Given the description of an element on the screen output the (x, y) to click on. 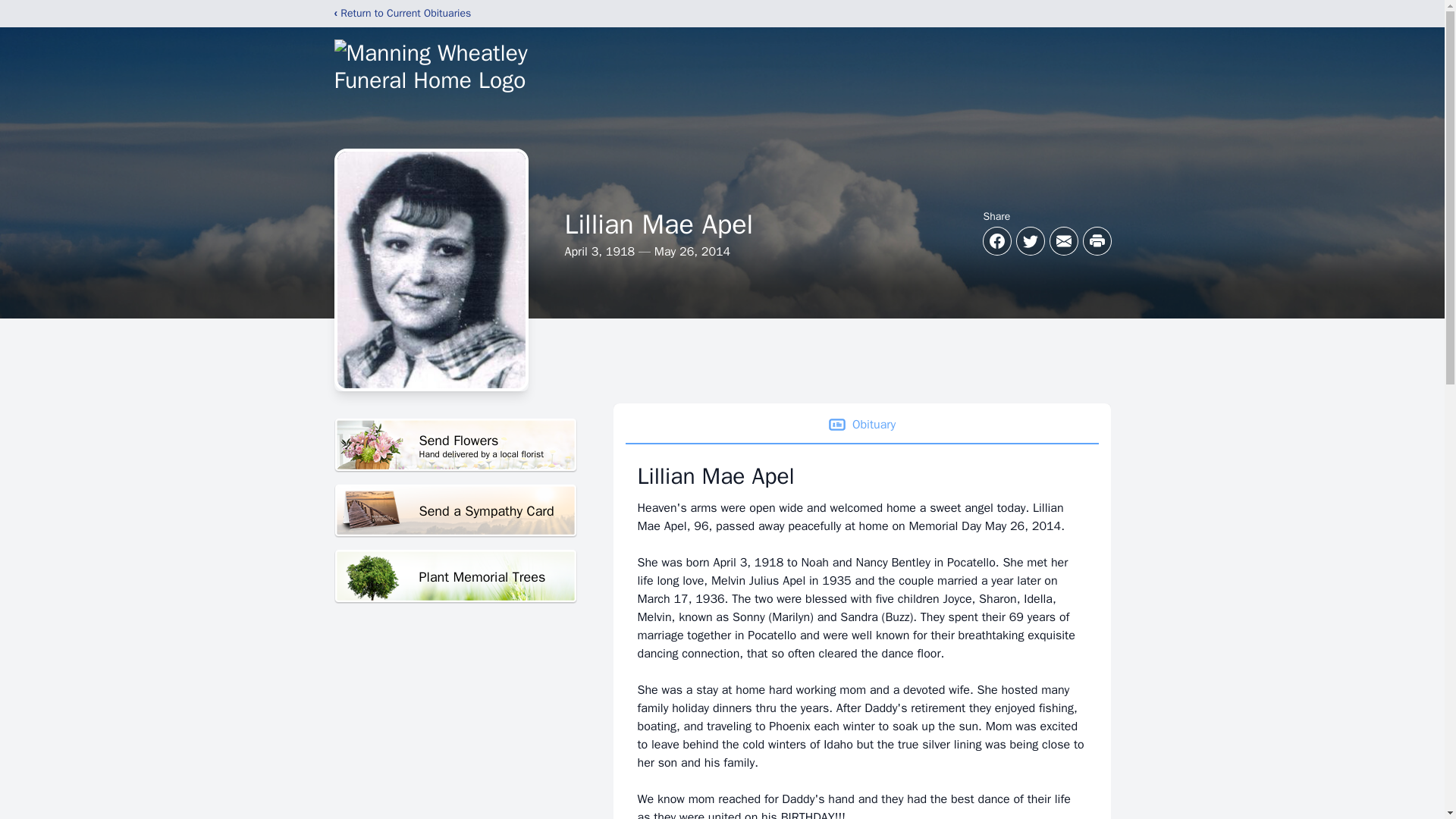
Plant Memorial Trees (454, 576)
Send a Sympathy Card (454, 511)
Obituary (454, 445)
